Given the description of an element on the screen output the (x, y) to click on. 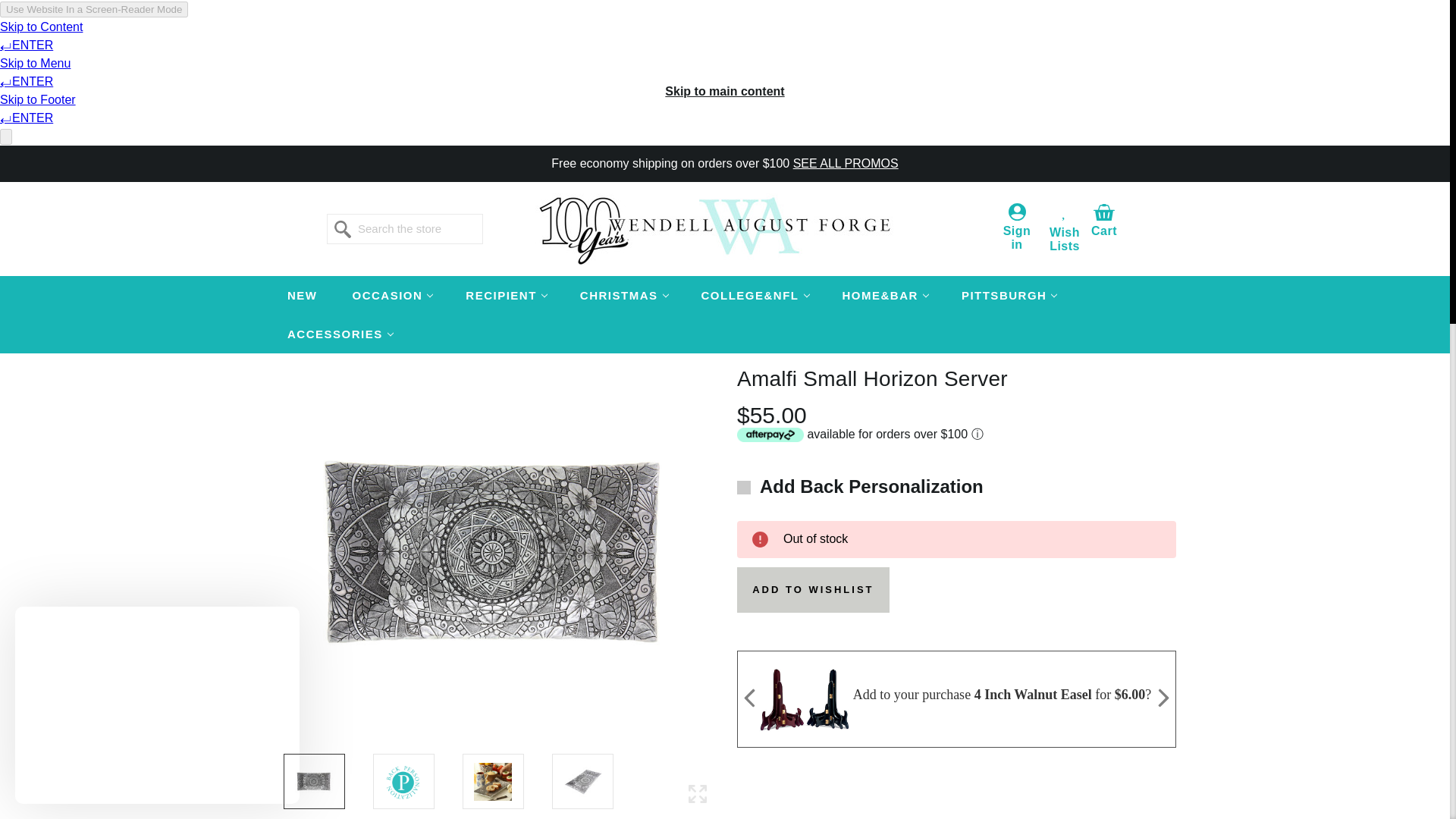
Skip to main content (724, 91)
4 Inch Walnut Easel (804, 698)
SEE ALL PROMOS (845, 163)
NEW (301, 295)
Wendell August Forge (724, 228)
Search (342, 229)
OCCASION (391, 295)
Add To Wishlist (812, 589)
